Given the description of an element on the screen output the (x, y) to click on. 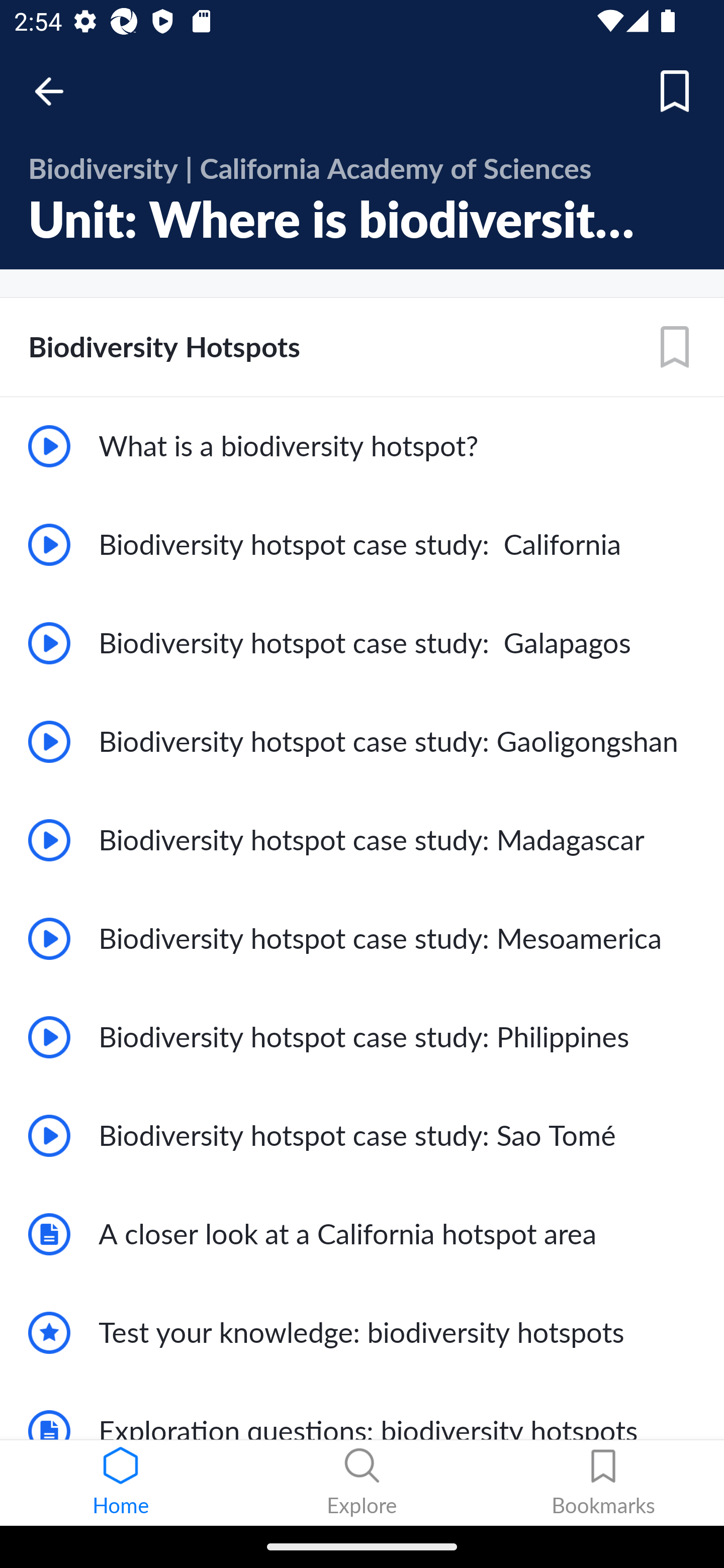
Back (58, 91)
Add Bookmark (674, 91)
Add Bookmark (674, 347)
What is a biodiversity hotspot? (362, 445)
Biodiversity hotspot case study:  California (362, 544)
Biodiversity hotspot case study:  Galapagos (362, 643)
Biodiversity hotspot case study: Gaoligongshan (362, 741)
Biodiversity hotspot case study: Madagascar (362, 839)
Biodiversity hotspot case study: Mesoamerica (362, 938)
Biodiversity hotspot case study: Philippines (362, 1036)
Biodiversity hotspot case study: Sao Tomé (362, 1135)
A closer look at a California hotspot area (362, 1234)
Test your knowledge: biodiversity hotspots (362, 1332)
Home (120, 1482)
Explore (361, 1482)
Bookmarks (603, 1482)
